Given the description of an element on the screen output the (x, y) to click on. 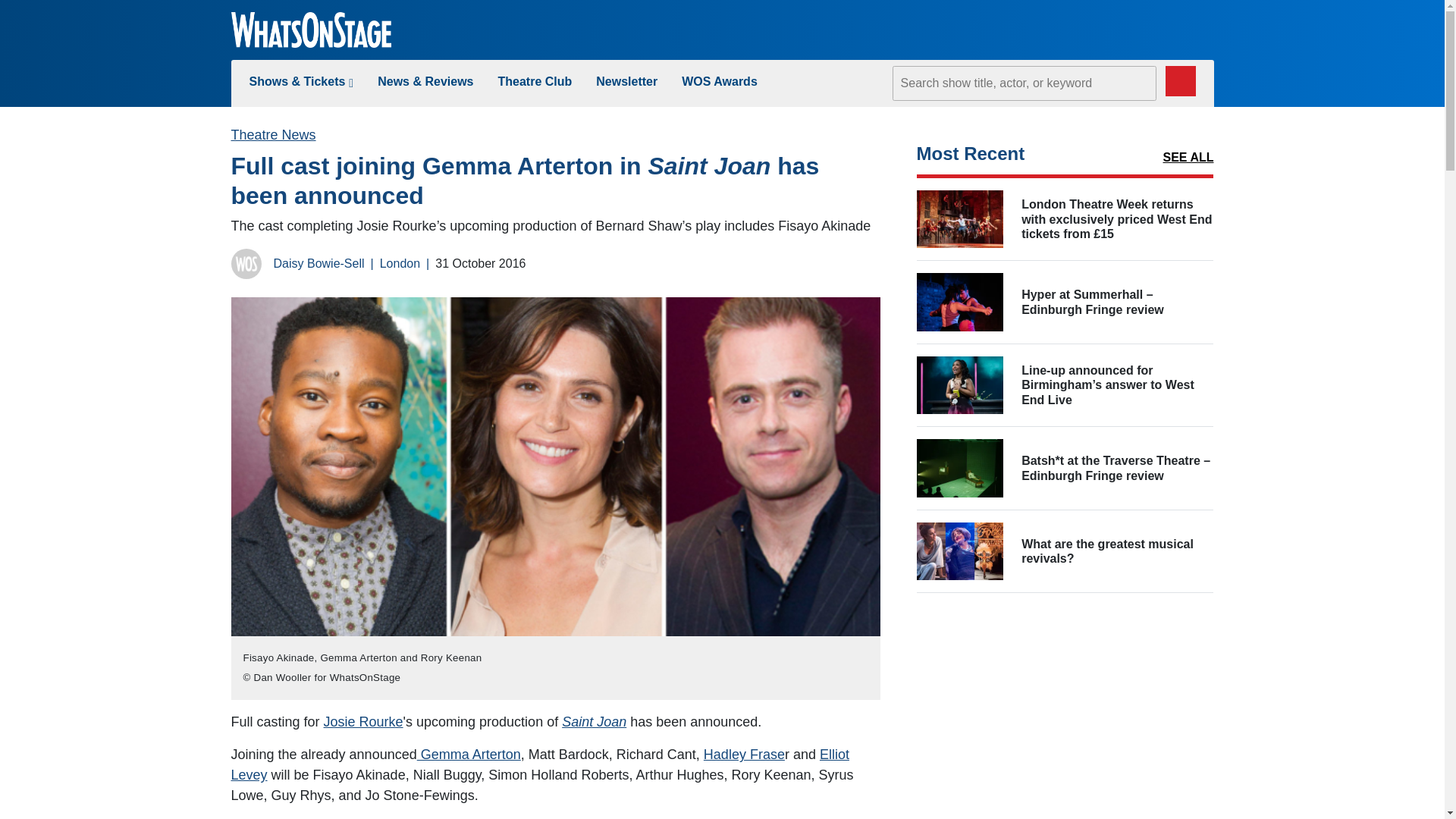
Theatre Club (534, 81)
new-and-reviews-link (425, 81)
WOS Awards (719, 81)
Newsletter (626, 81)
